Given the description of an element on the screen output the (x, y) to click on. 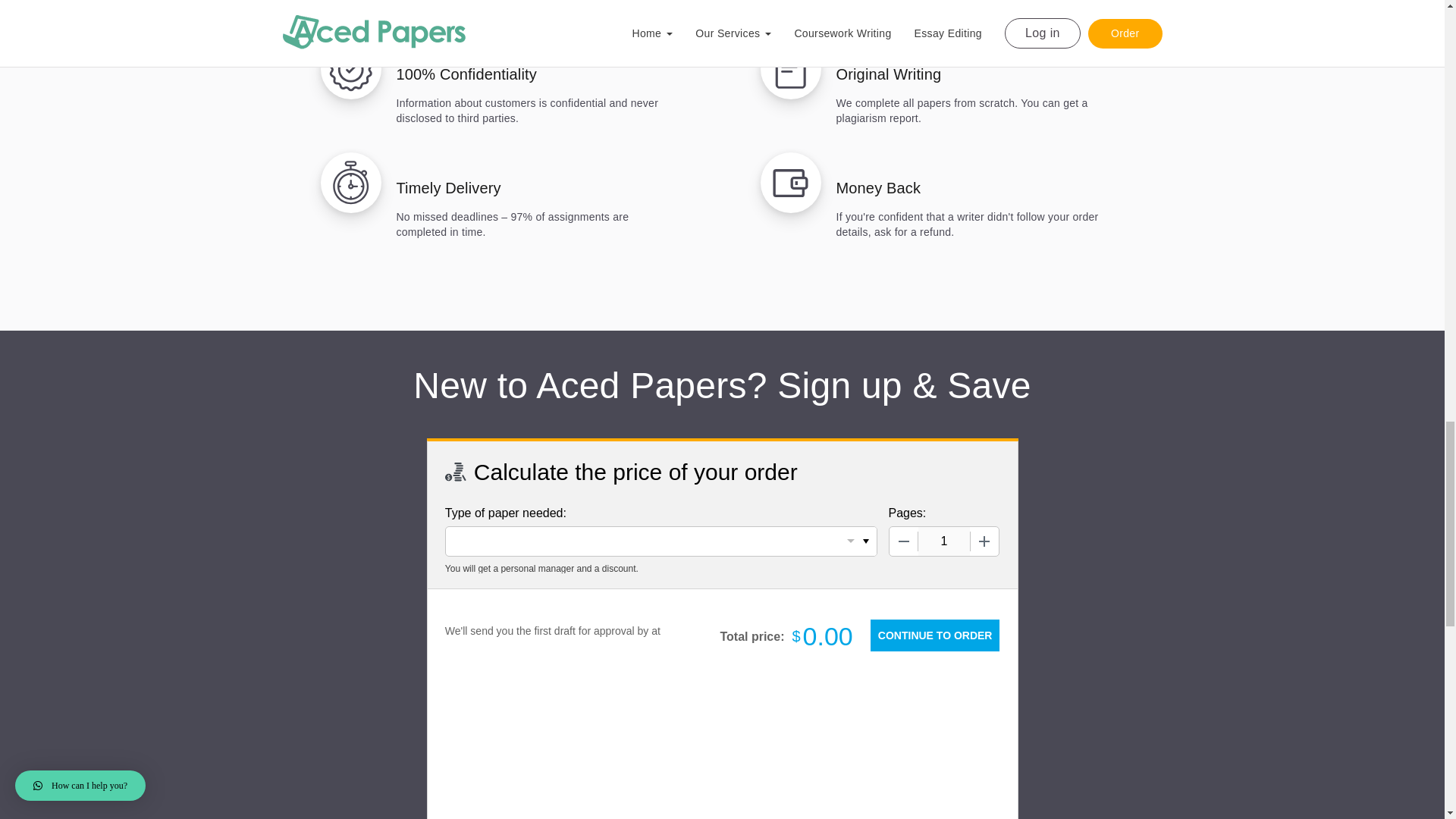
Decrease (902, 541)
Increase (983, 541)
Continue to Order (934, 635)
1 (943, 541)
Continue to order (934, 635)
